Given the description of an element on the screen output the (x, y) to click on. 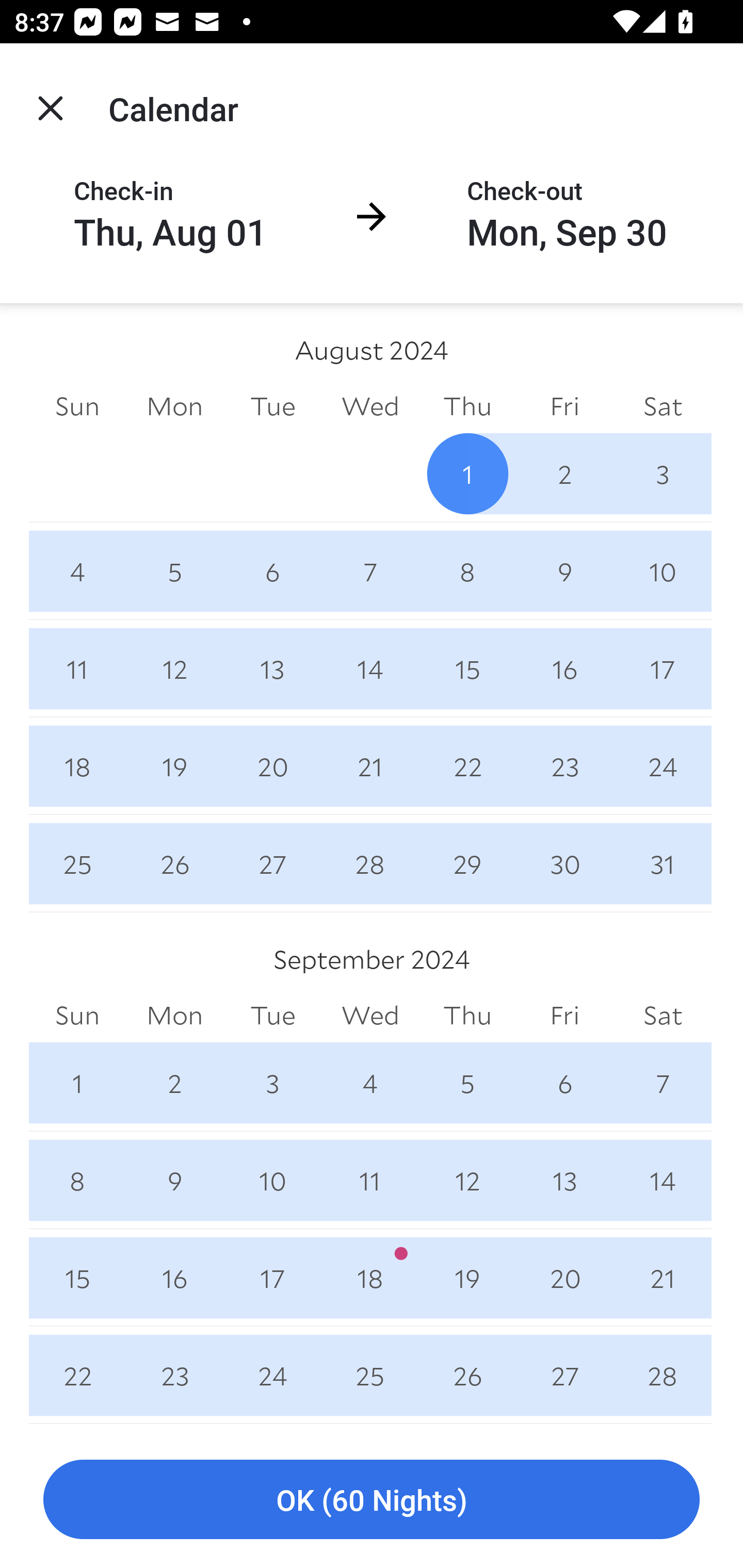
Sun (77, 405)
Mon (174, 405)
Tue (272, 405)
Wed (370, 405)
Thu (467, 405)
Fri (564, 405)
Sat (662, 405)
1 1 August 2024 (467, 473)
2 2 August 2024 (564, 473)
3 3 August 2024 (662, 473)
4 4 August 2024 (77, 570)
5 5 August 2024 (174, 570)
6 6 August 2024 (272, 570)
7 7 August 2024 (370, 570)
8 8 August 2024 (467, 570)
9 9 August 2024 (564, 570)
10 10 August 2024 (662, 570)
11 11 August 2024 (77, 668)
12 12 August 2024 (174, 668)
13 13 August 2024 (272, 668)
14 14 August 2024 (370, 668)
15 15 August 2024 (467, 668)
16 16 August 2024 (564, 668)
17 17 August 2024 (662, 668)
18 18 August 2024 (77, 766)
19 19 August 2024 (174, 766)
20 20 August 2024 (272, 766)
21 21 August 2024 (370, 766)
22 22 August 2024 (467, 766)
23 23 August 2024 (564, 766)
24 24 August 2024 (662, 766)
25 25 August 2024 (77, 863)
26 26 August 2024 (174, 863)
27 27 August 2024 (272, 863)
28 28 August 2024 (370, 863)
29 29 August 2024 (467, 863)
30 30 August 2024 (564, 863)
31 31 August 2024 (662, 863)
Sun (77, 1015)
Mon (174, 1015)
Tue (272, 1015)
Wed (370, 1015)
Thu (467, 1015)
Fri (564, 1015)
Sat (662, 1015)
1 1 September 2024 (77, 1083)
2 2 September 2024 (174, 1083)
3 3 September 2024 (272, 1083)
4 4 September 2024 (370, 1083)
5 5 September 2024 (467, 1083)
6 6 September 2024 (564, 1083)
7 7 September 2024 (662, 1083)
8 8 September 2024 (77, 1180)
9 9 September 2024 (174, 1180)
10 10 September 2024 (272, 1180)
11 11 September 2024 (370, 1180)
12 12 September 2024 (467, 1180)
13 13 September 2024 (564, 1180)
14 14 September 2024 (662, 1180)
15 15 September 2024 (77, 1277)
16 16 September 2024 (174, 1277)
17 17 September 2024 (272, 1277)
18 18 September 2024 (370, 1277)
19 19 September 2024 (467, 1277)
20 20 September 2024 (564, 1277)
21 21 September 2024 (662, 1277)
22 22 September 2024 (77, 1374)
23 23 September 2024 (174, 1374)
24 24 September 2024 (272, 1374)
25 25 September 2024 (370, 1374)
26 26 September 2024 (467, 1374)
27 27 September 2024 (564, 1374)
28 28 September 2024 (662, 1374)
OK (60 Nights) (371, 1499)
